Given the description of an element on the screen output the (x, y) to click on. 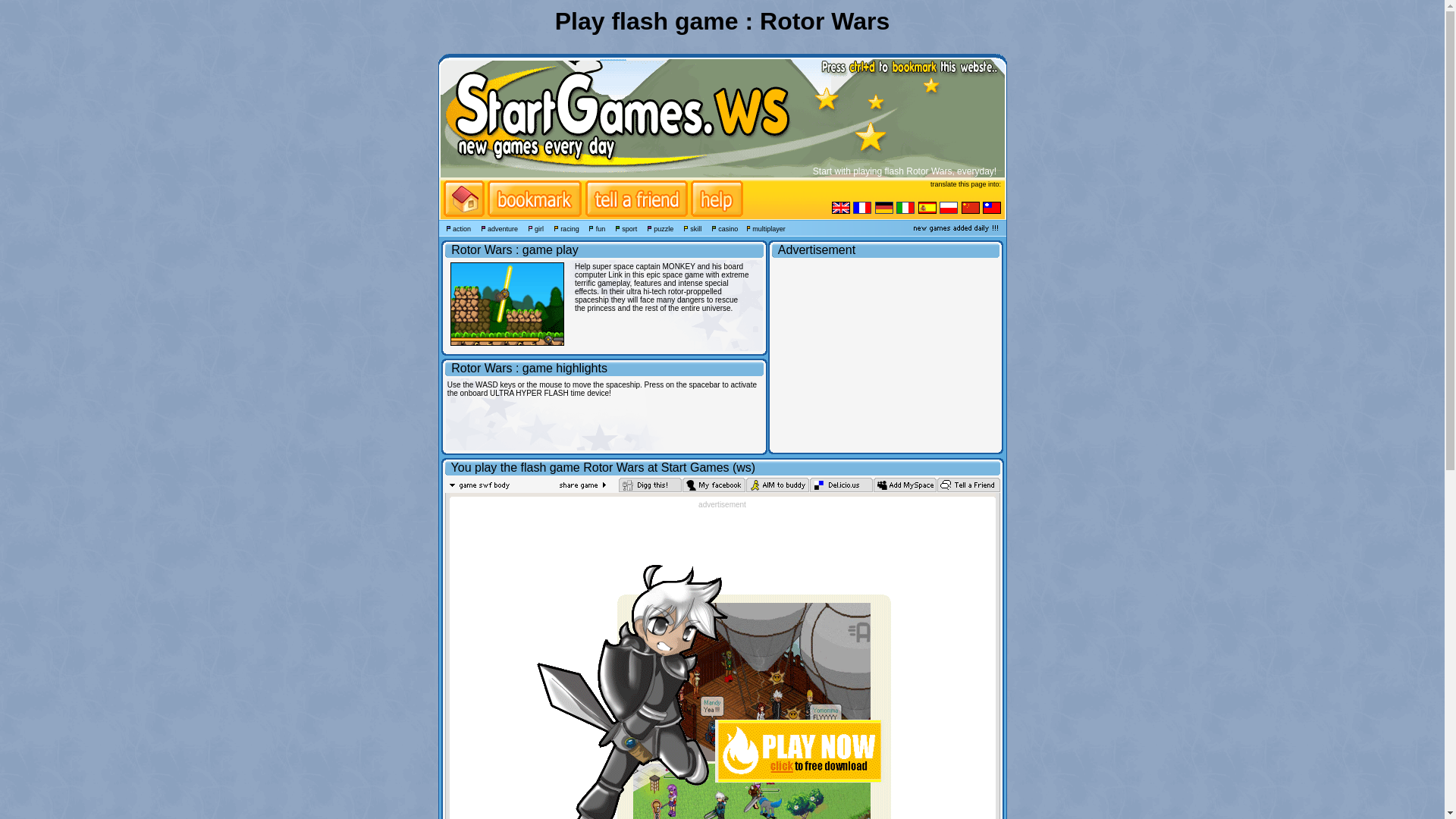
casino (720, 228)
racing (562, 228)
fun (592, 228)
adventure (495, 228)
sport (622, 228)
Advertisement (884, 354)
puzzle (656, 228)
action (454, 228)
multiplayer (762, 228)
girl (531, 228)
skill (688, 228)
